Given the description of an element on the screen output the (x, y) to click on. 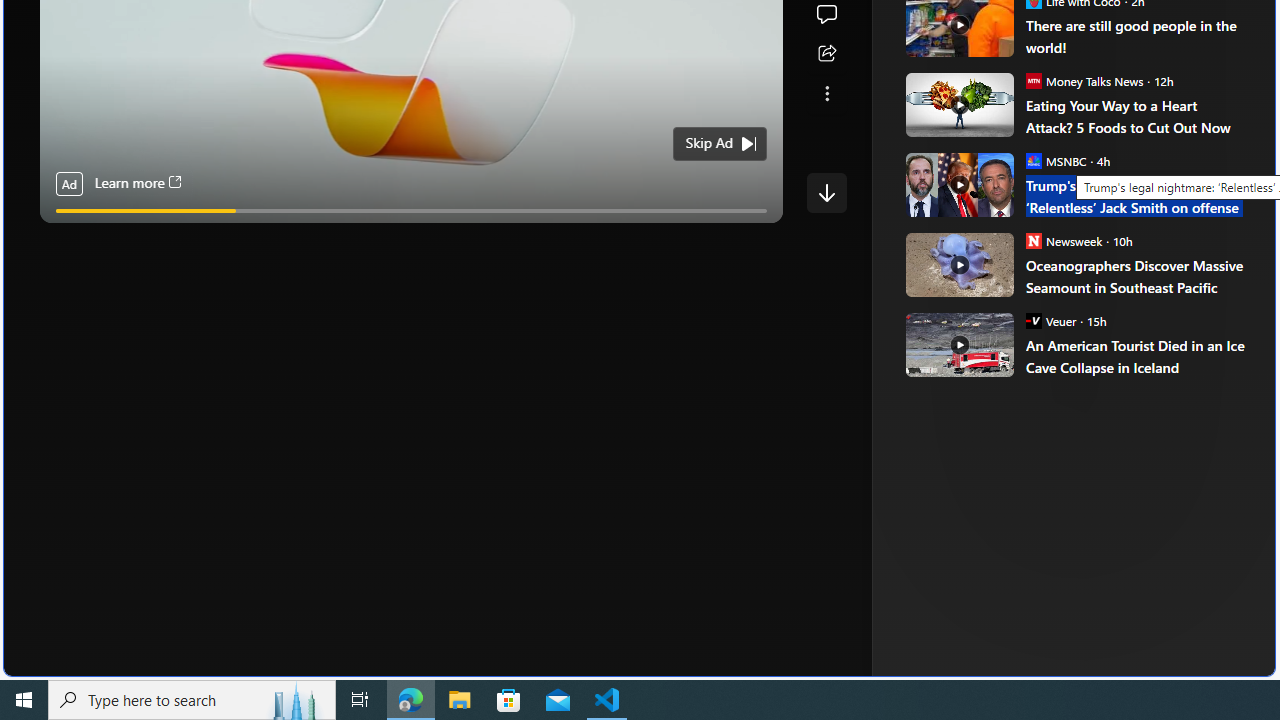
Learn more (137, 183)
Feedback (1199, 659)
Money Talks News (1033, 80)
Eating Your Way to a Heart Attack? 5 Foods to Cut Out Now (958, 104)
ABC News (974, 12)
MSNBC MSNBC (1055, 160)
Class: control (826, 192)
Share this story (826, 53)
